Given the description of an element on the screen output the (x, y) to click on. 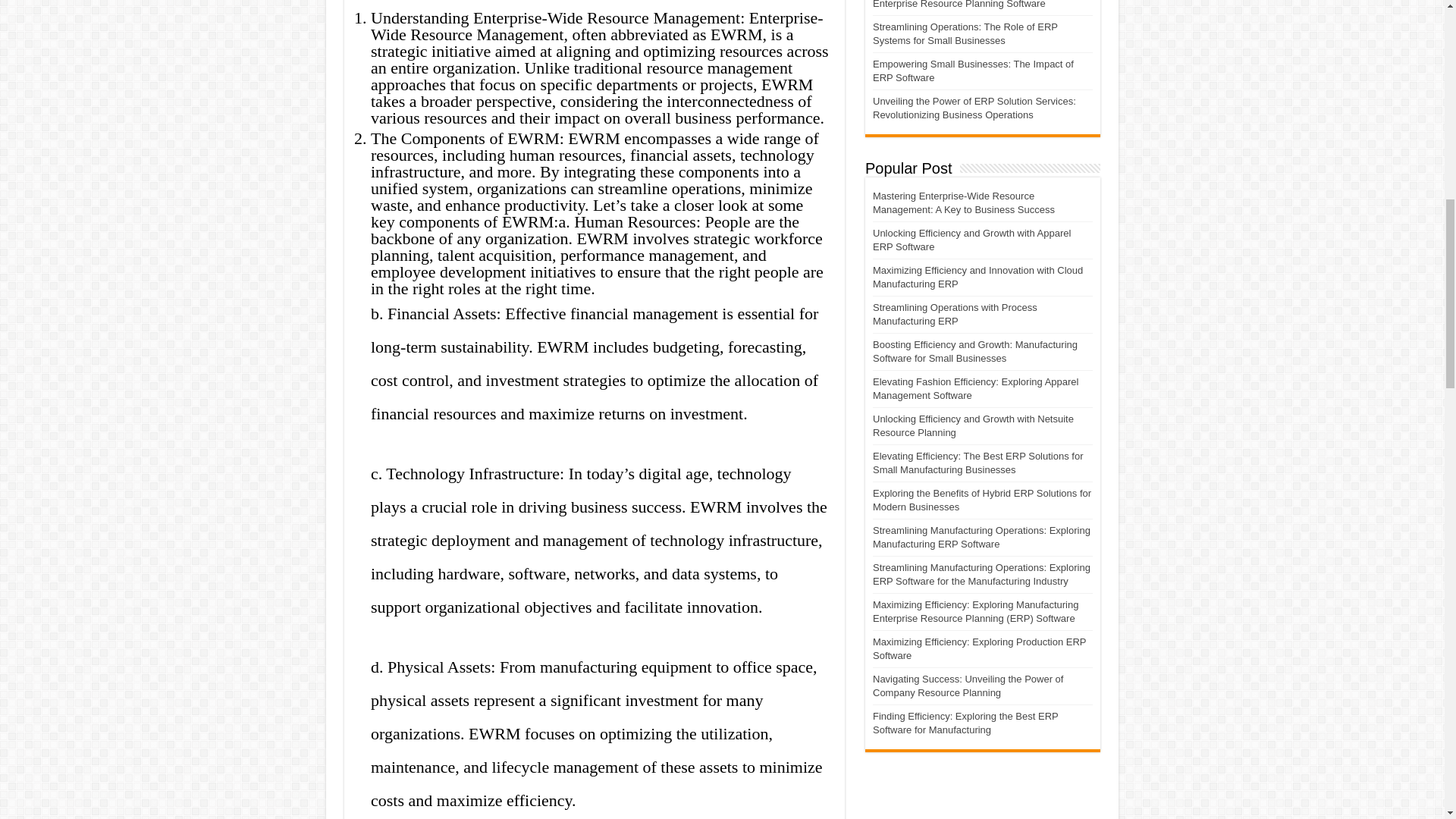
Unlocking Efficiency and Growth with Apparel ERP Software (971, 239)
Maximizing Efficiency: Exploring Production ERP Software (979, 648)
Streamlining Operations with Process Manufacturing ERP (954, 314)
Empowering Small Businesses: The Impact of ERP Software (973, 70)
